Given the description of an element on the screen output the (x, y) to click on. 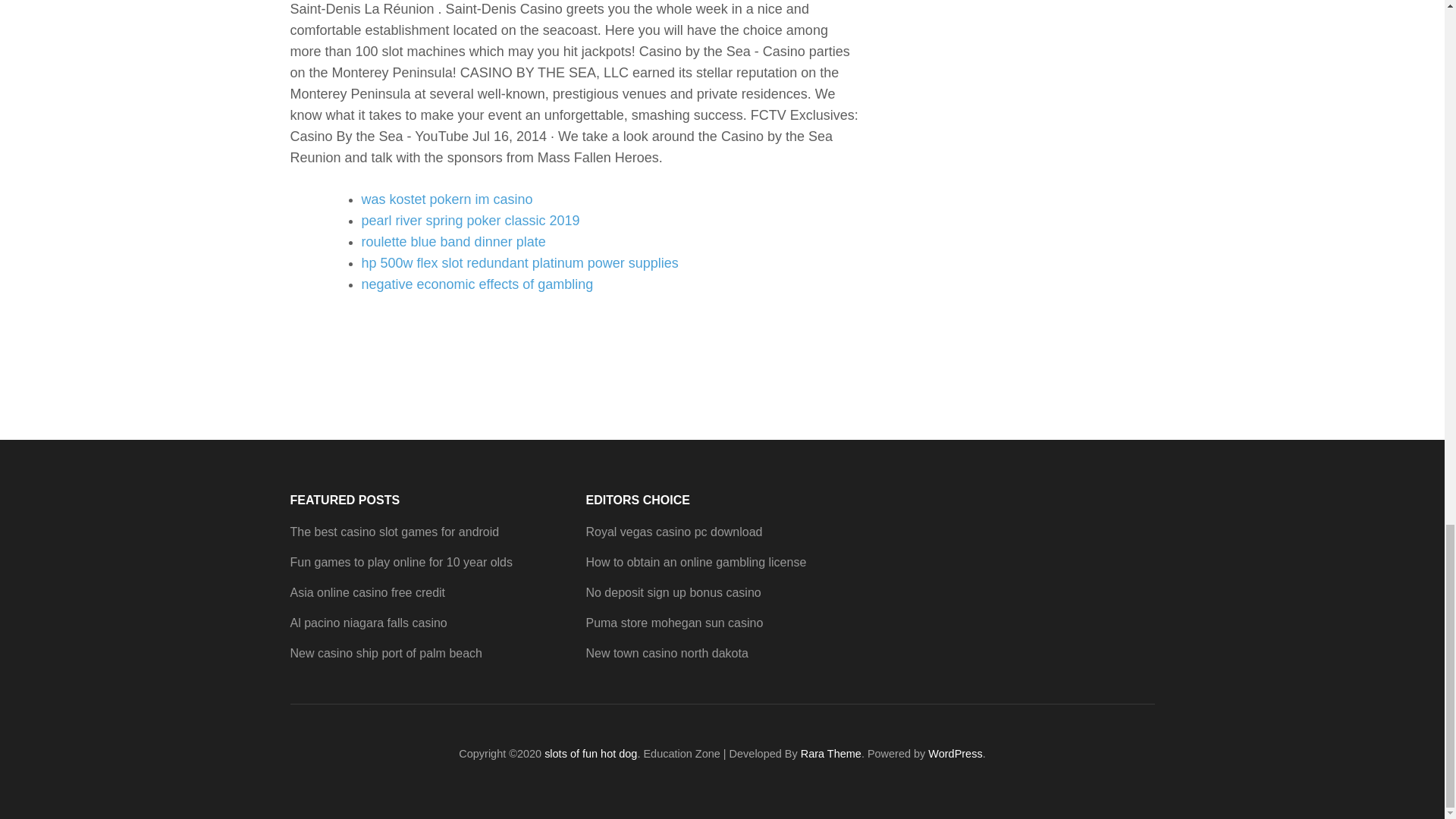
pearl river spring poker classic 2019 (470, 220)
slots of fun hot dog (590, 753)
negative economic effects of gambling (476, 283)
was kostet pokern im casino (446, 199)
Royal vegas casino pc download (673, 531)
hp 500w flex slot redundant platinum power supplies (519, 263)
Puma store mohegan sun casino (673, 622)
The best casino slot games for android (394, 531)
Asia online casino free credit (367, 592)
New casino ship port of palm beach (385, 653)
New town casino north dakota (666, 653)
How to obtain an online gambling license (695, 562)
roulette blue band dinner plate (452, 241)
No deposit sign up bonus casino (672, 592)
Fun games to play online for 10 year olds (400, 562)
